Given the description of an element on the screen output the (x, y) to click on. 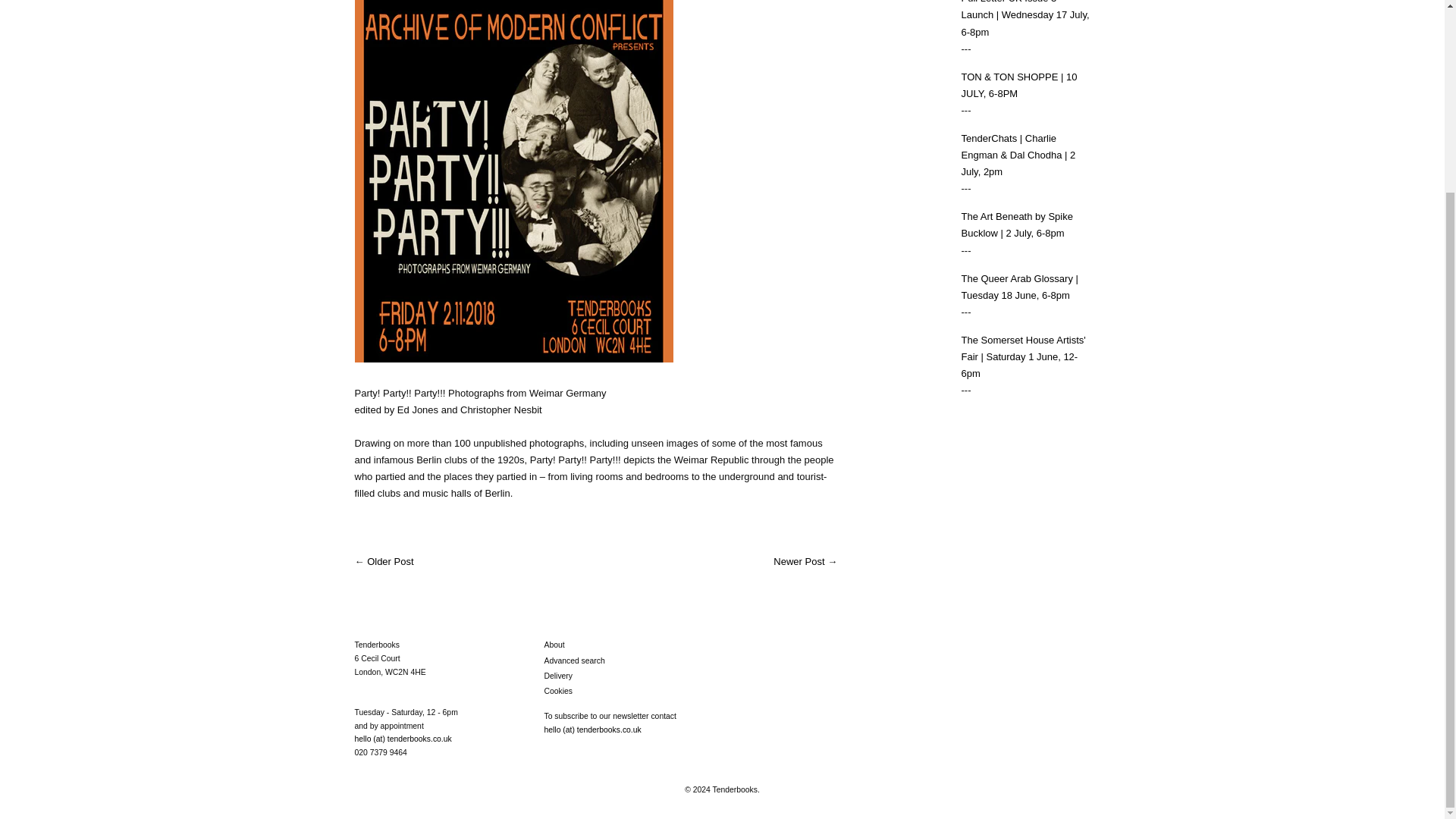
Older Post (389, 561)
